Given the description of an element on the screen output the (x, y) to click on. 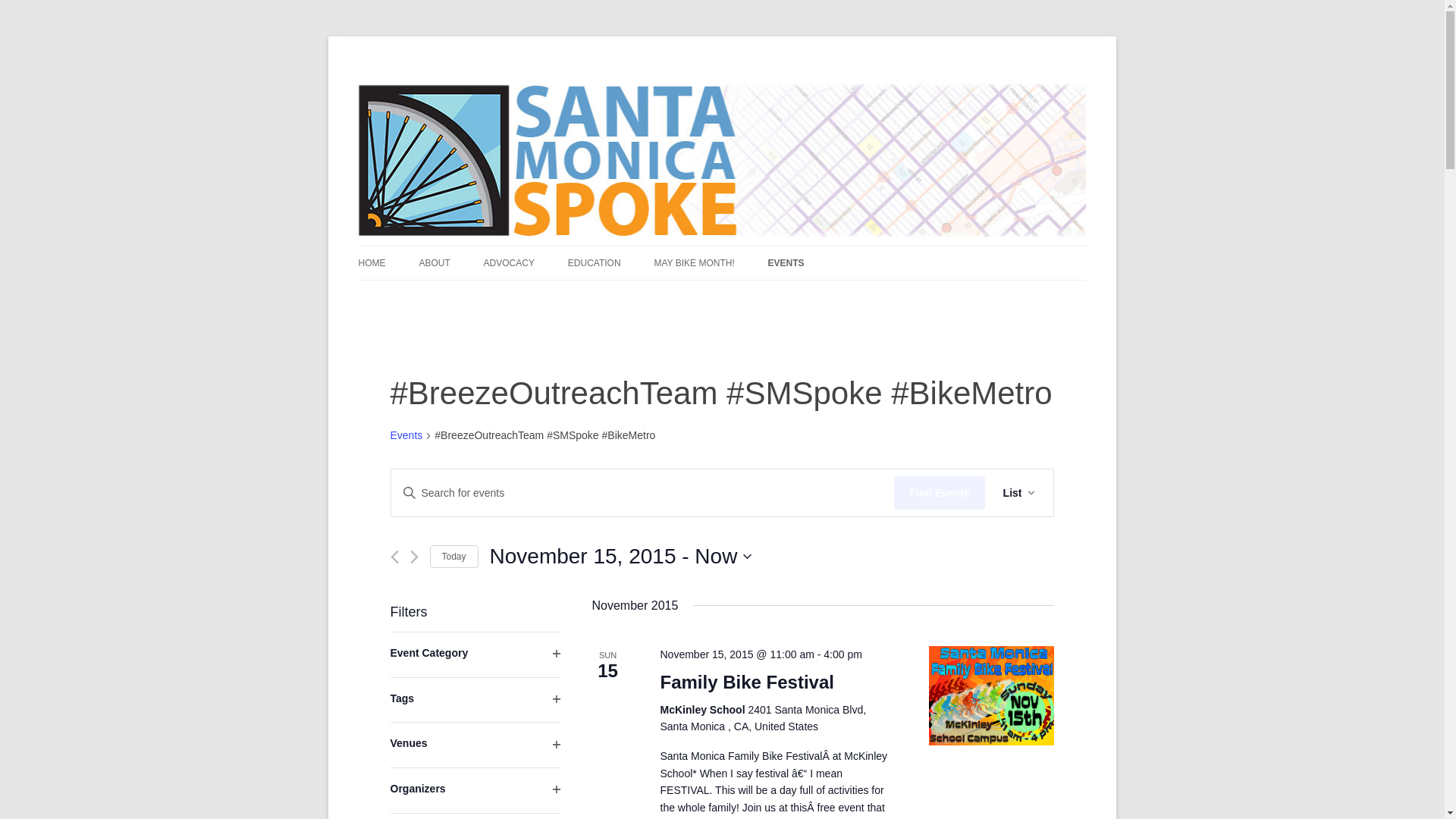
ADVOCACY (508, 263)
Click to select today's date (453, 556)
EVENTS (786, 263)
Santa Monica Spoke (454, 72)
REGISTER YOUR BIKE: FREE (643, 295)
MAY BIKE MONTH! (693, 263)
ABOUT (434, 263)
Find Events (620, 556)
Events (938, 492)
Today (406, 436)
EDUCATION (453, 556)
